Given the description of an element on the screen output the (x, y) to click on. 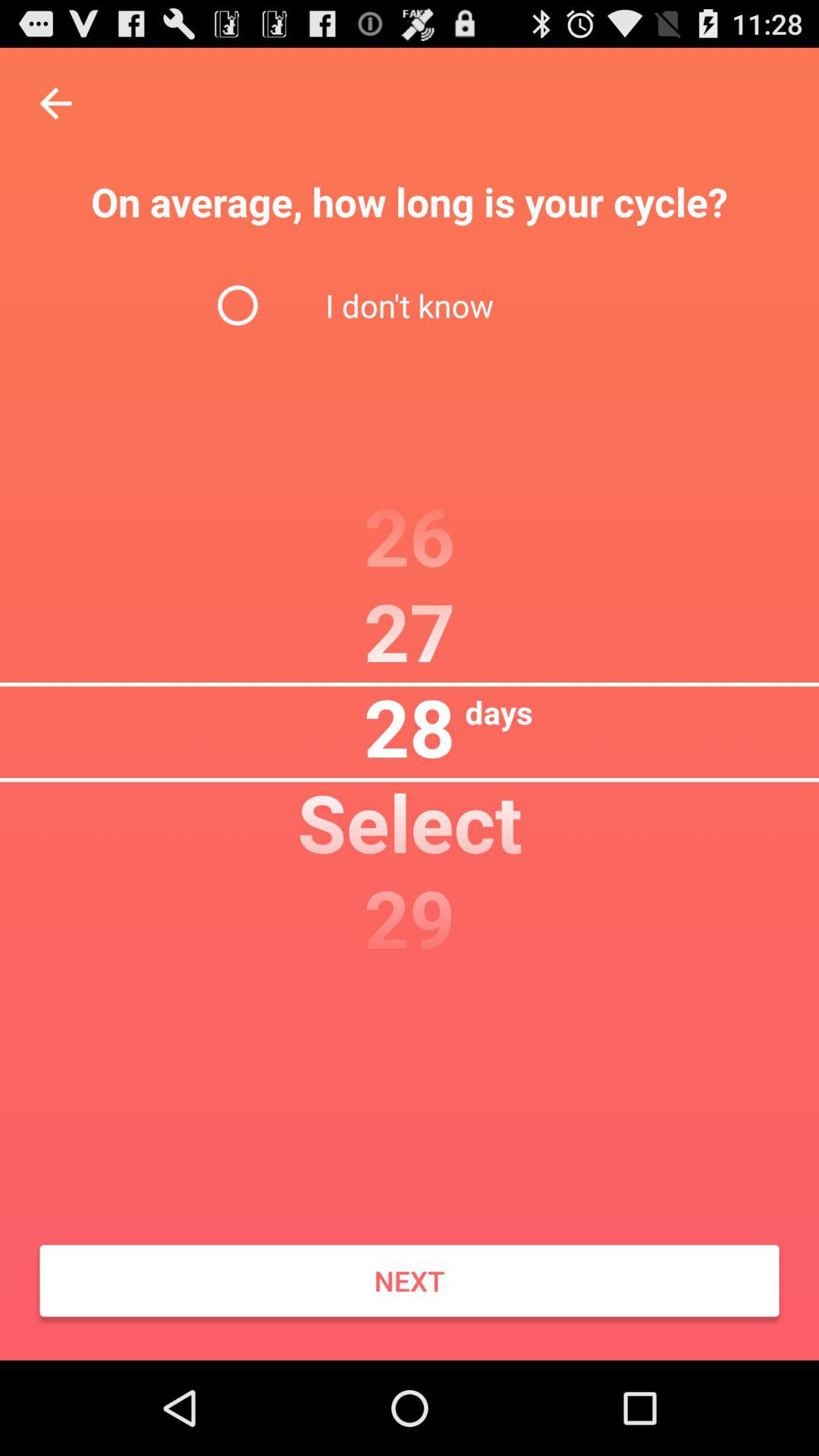
open the icon at the bottom (409, 1280)
